Given the description of an element on the screen output the (x, y) to click on. 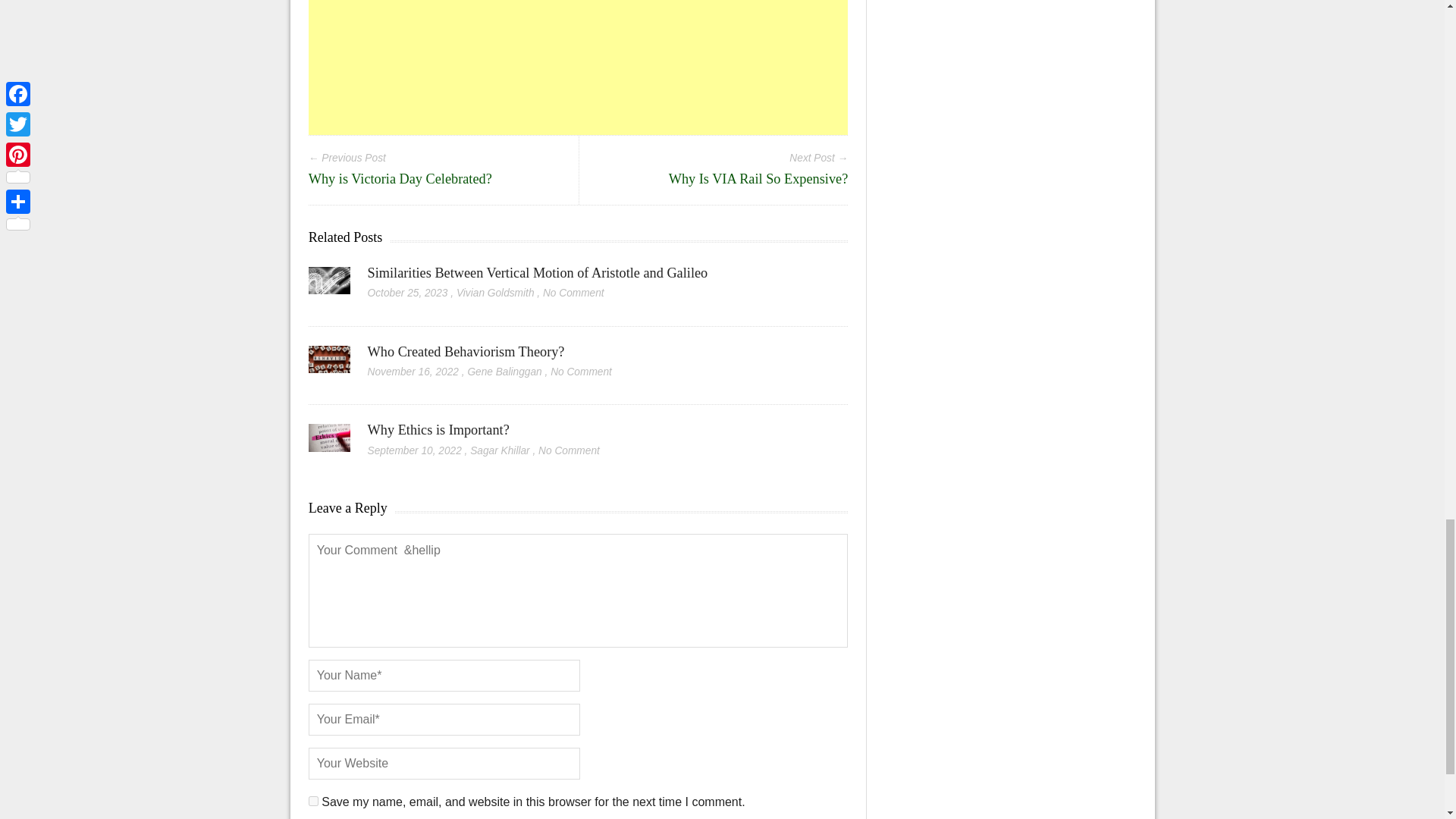
Advertisement (578, 67)
Vivian Goldsmith (495, 292)
Posts by Vivian Goldsmith (495, 292)
Gene Balinggan (504, 371)
No Comment (573, 292)
yes (313, 800)
Who Created Behaviorism Theory? (466, 351)
No Comment (580, 371)
Who Created Behaviorism Theory? (466, 351)
Who Created Behaviorism Theory? (329, 365)
